Given the description of an element on the screen output the (x, y) to click on. 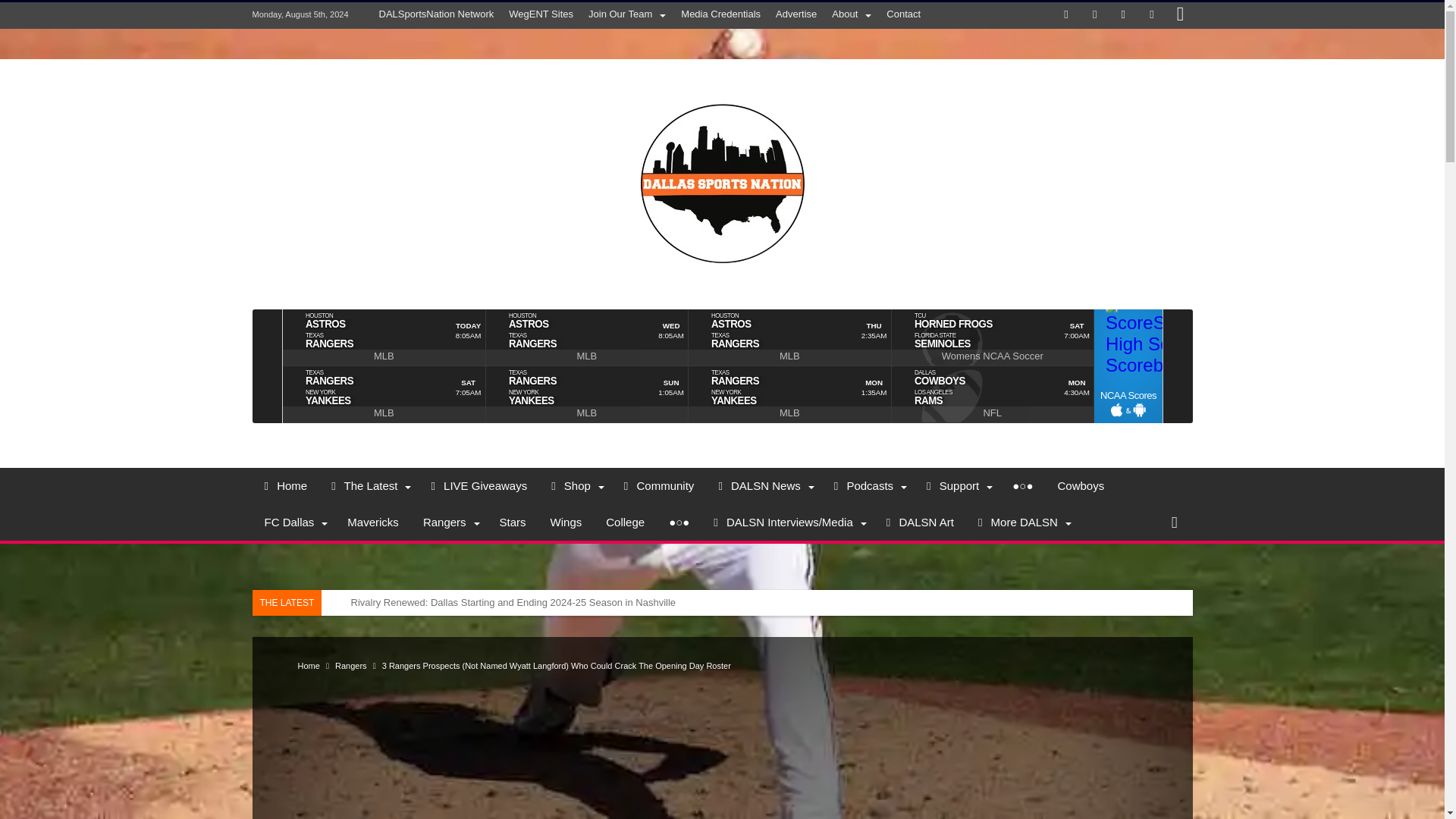
LinkedIn (1122, 15)
Support (957, 485)
Contact (903, 14)
LIVE Giveaways (478, 485)
Youtube (1151, 15)
Advertise (796, 14)
Home (284, 485)
Realtime sports scoreboard widget (721, 366)
DALSN News (763, 485)
Media Credentials (720, 14)
